Given the description of an element on the screen output the (x, y) to click on. 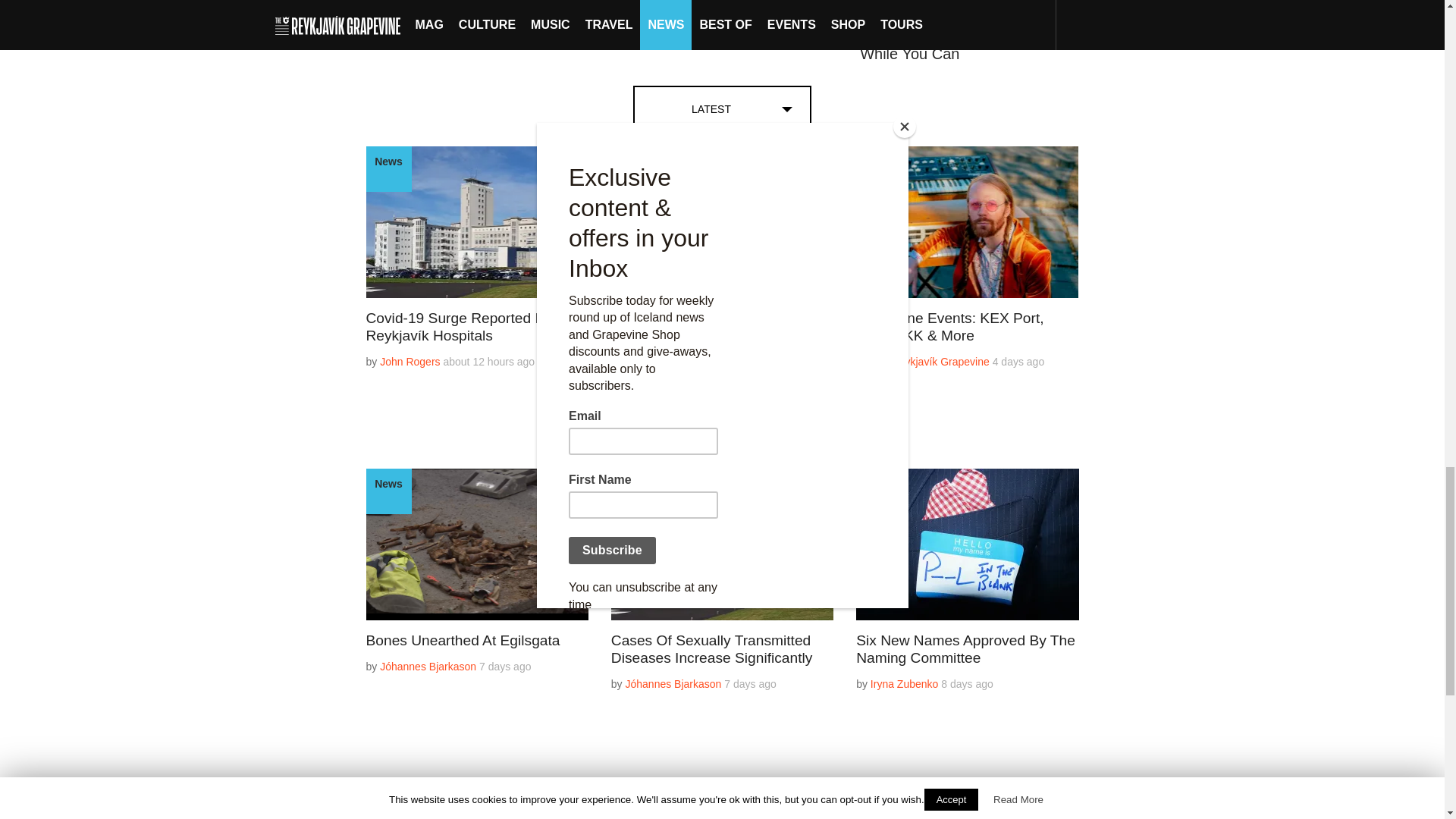
11:55 (718, 378)
14:42 (1018, 361)
11:06 (505, 666)
Posts by Iryna Zubenko (660, 378)
Posts by John Rogers (409, 361)
14:04 (488, 361)
Permanent Link to Into The Glaciers: See Them While You Can (956, 44)
14:00 (749, 684)
